Given the description of an element on the screen output the (x, y) to click on. 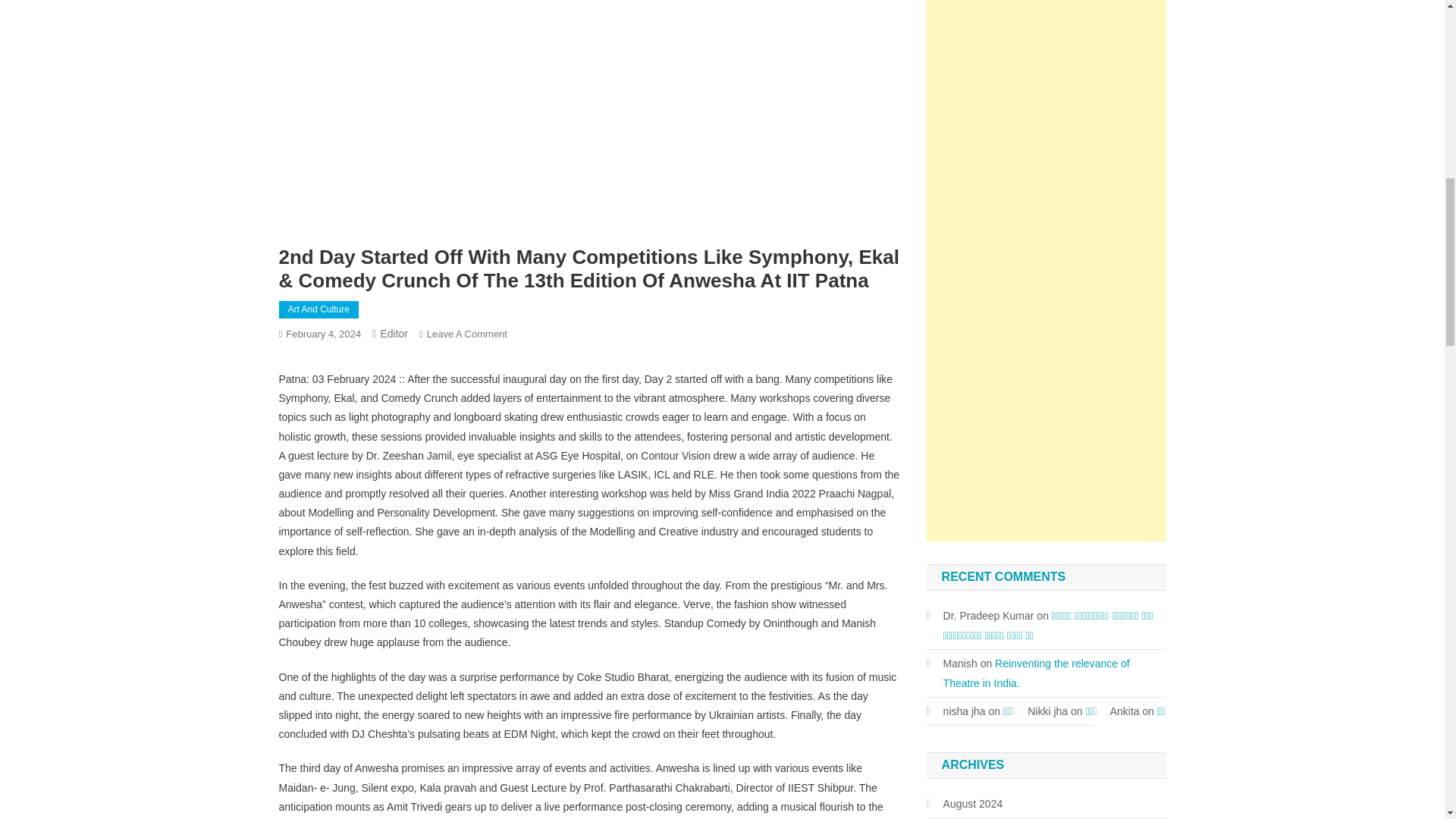
Editor (393, 333)
February 4, 2024 (323, 333)
Art And Culture (318, 310)
